Given the description of an element on the screen output the (x, y) to click on. 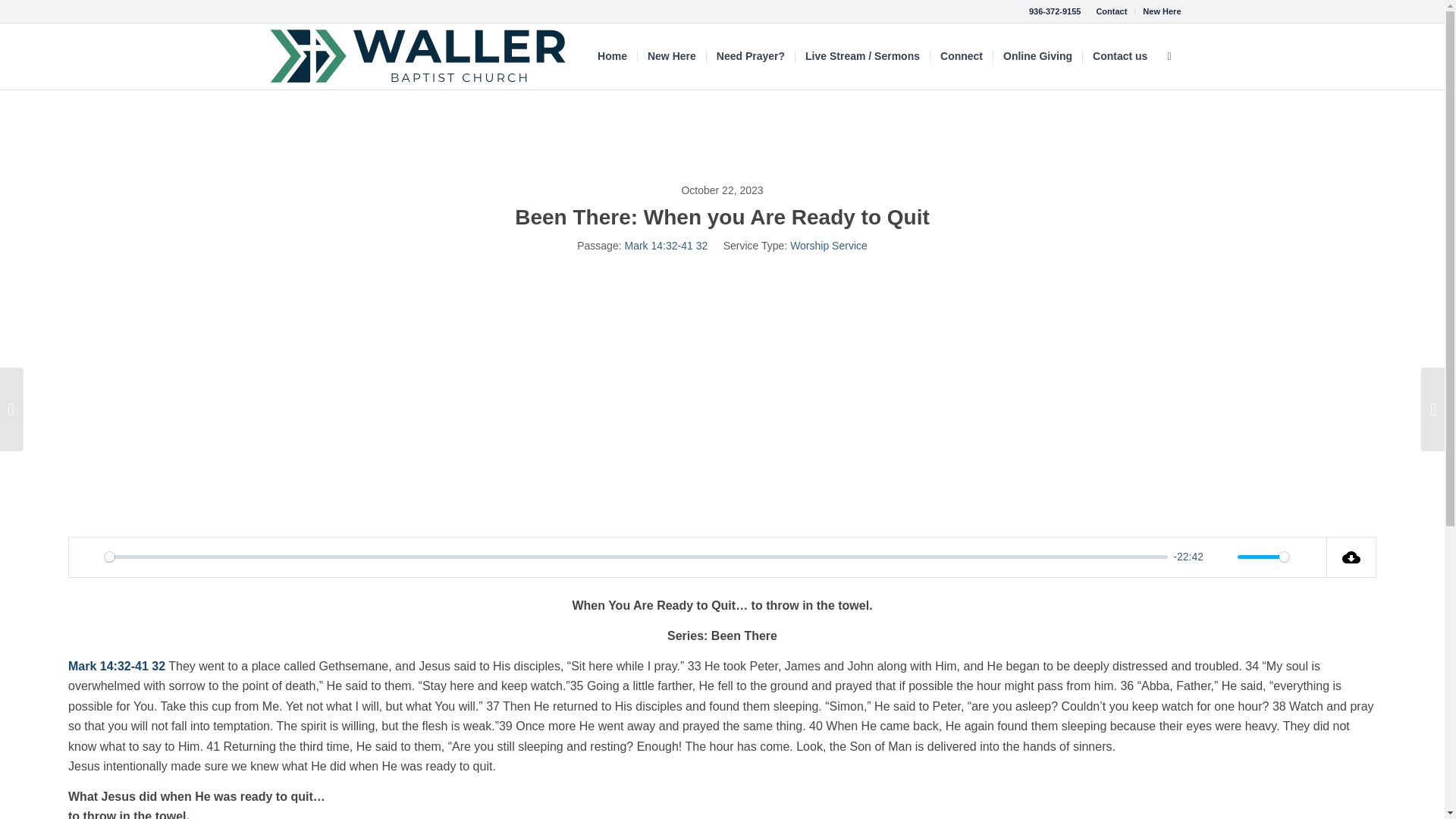
Worship Service (828, 245)
Download Audio File (1350, 557)
Contact (1111, 11)
32 (158, 666)
Mark 14:32-41 (658, 245)
Contact us (1119, 55)
0 (635, 556)
32 (701, 245)
Mark 14:32-41 (108, 666)
Play (88, 557)
936-372-9155 (1055, 10)
New Here (671, 55)
New Here (1161, 11)
Online Giving (1036, 55)
Settings (1306, 557)
